Given the description of an element on the screen output the (x, y) to click on. 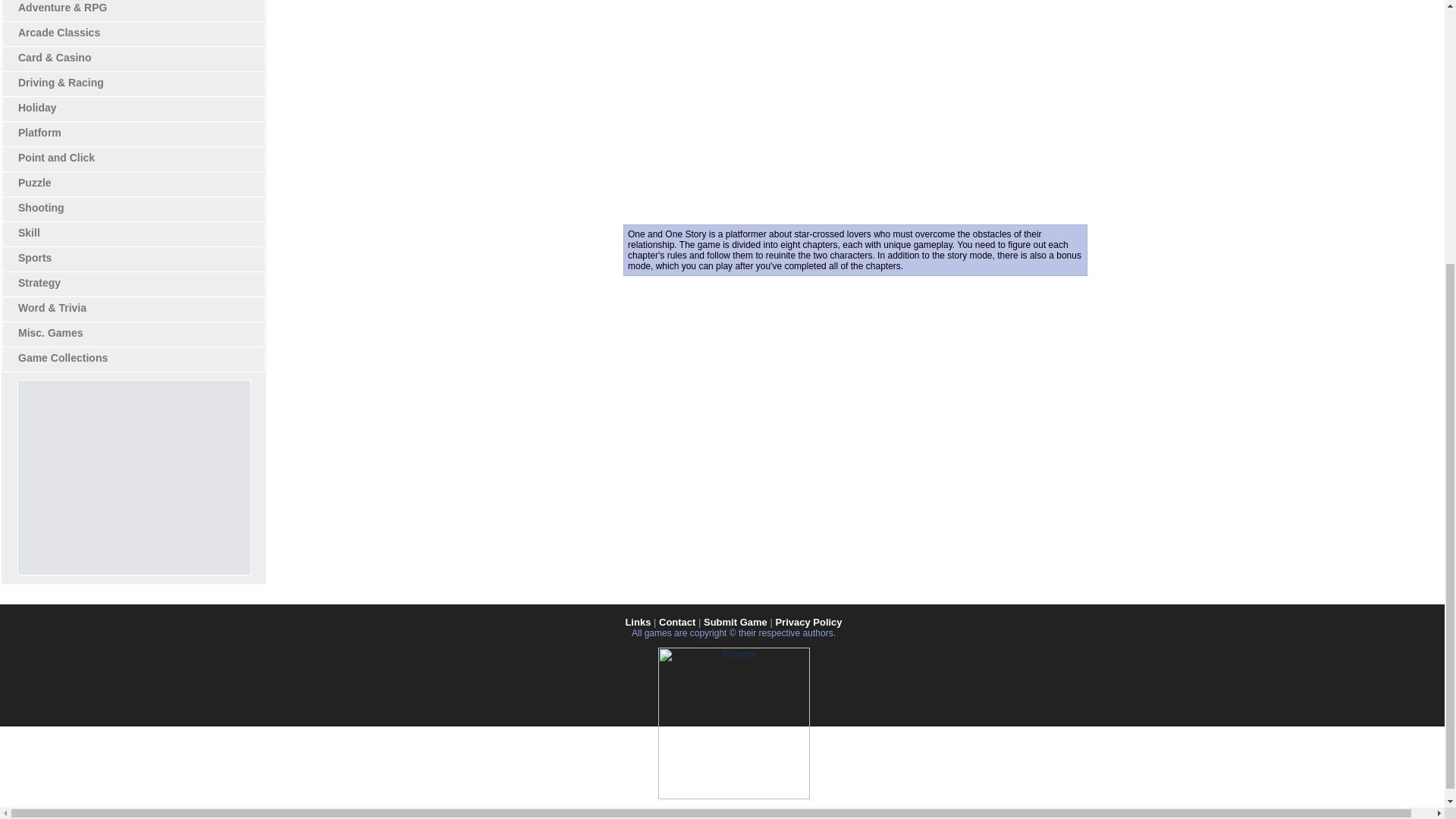
Point and Click (55, 157)
Platform (39, 132)
Links (637, 622)
Misc. Games (49, 332)
Contact (677, 622)
Submit Game (735, 622)
Puzzle (33, 182)
Sports (33, 257)
Shooting (40, 207)
Game Collections (62, 357)
